Given the description of an element on the screen output the (x, y) to click on. 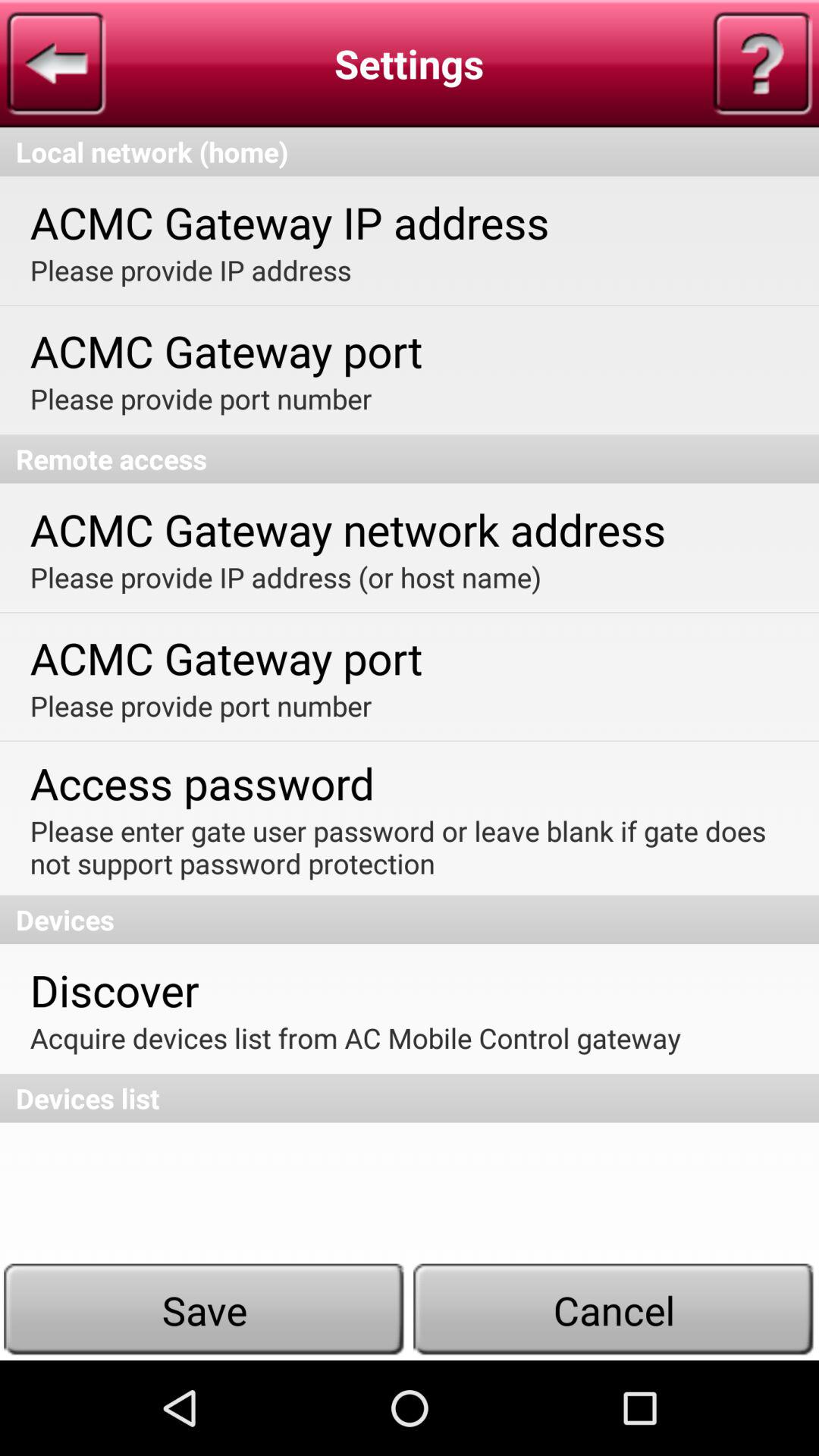
launch item to the right of save (614, 1309)
